Given the description of an element on the screen output the (x, y) to click on. 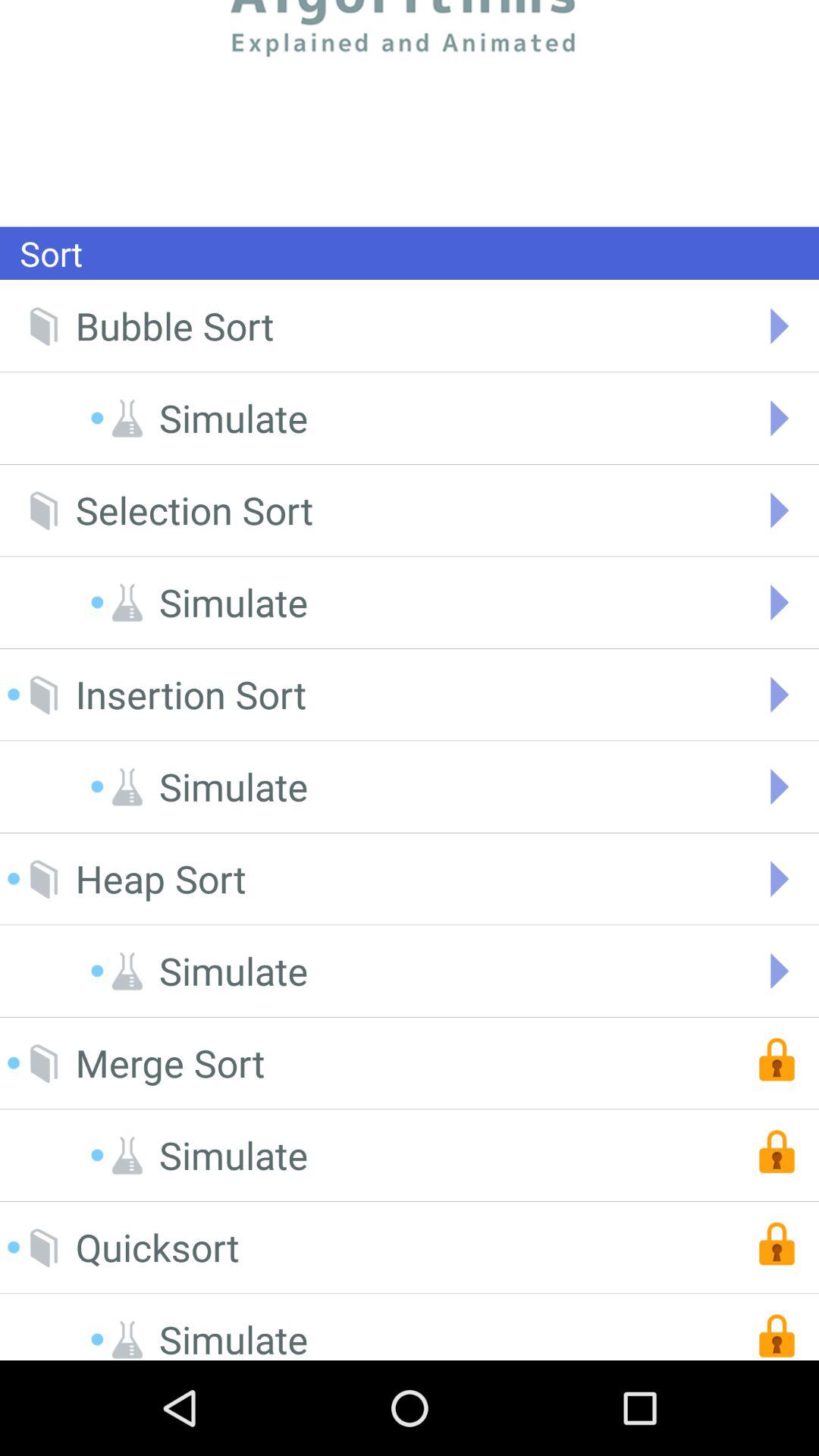
choose the item above the simulate item (190, 694)
